Given the description of an element on the screen output the (x, y) to click on. 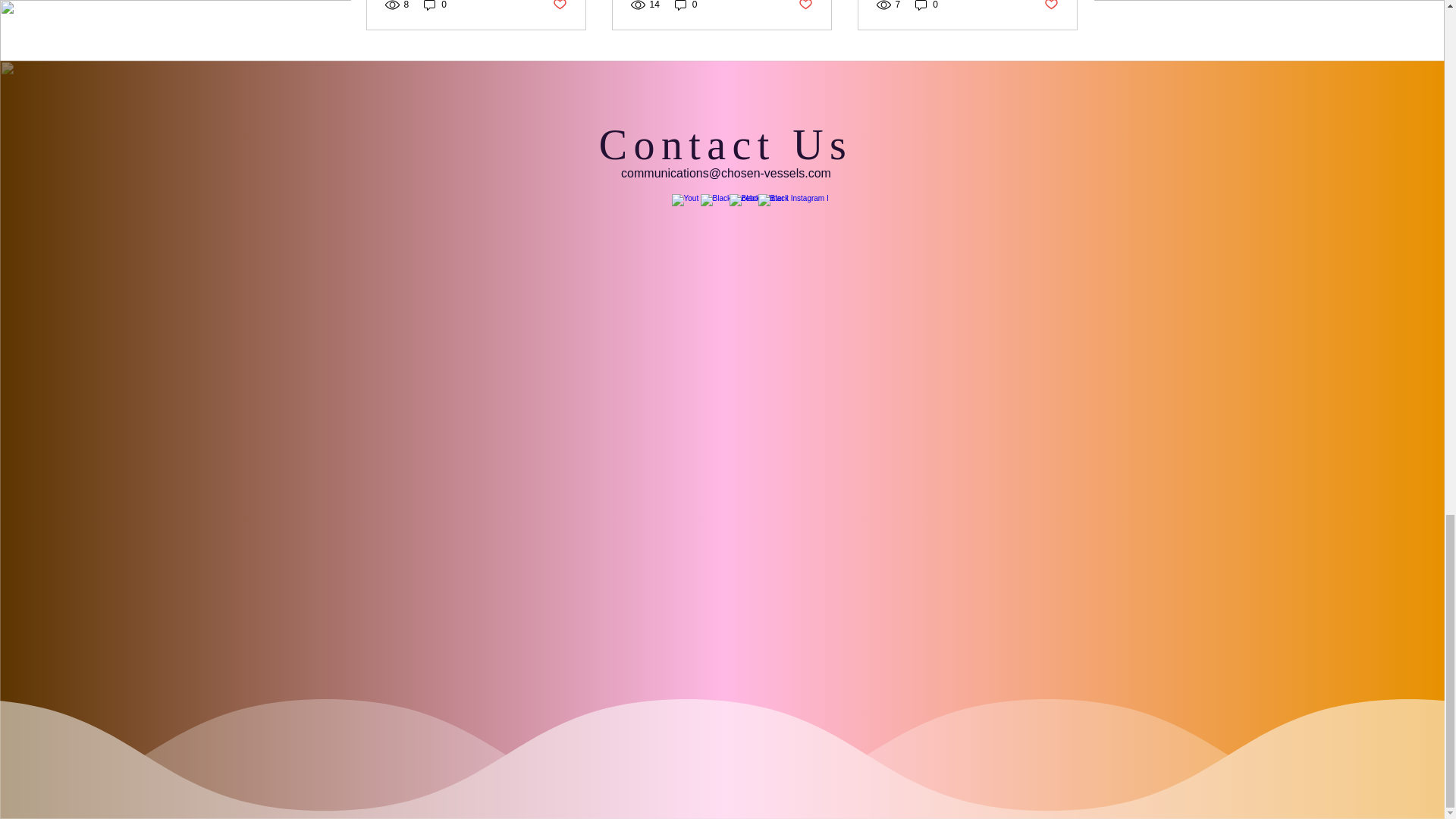
0 (435, 6)
0 (926, 6)
Post not marked as liked (558, 6)
Post not marked as liked (804, 6)
0 (685, 6)
